Given the description of an element on the screen output the (x, y) to click on. 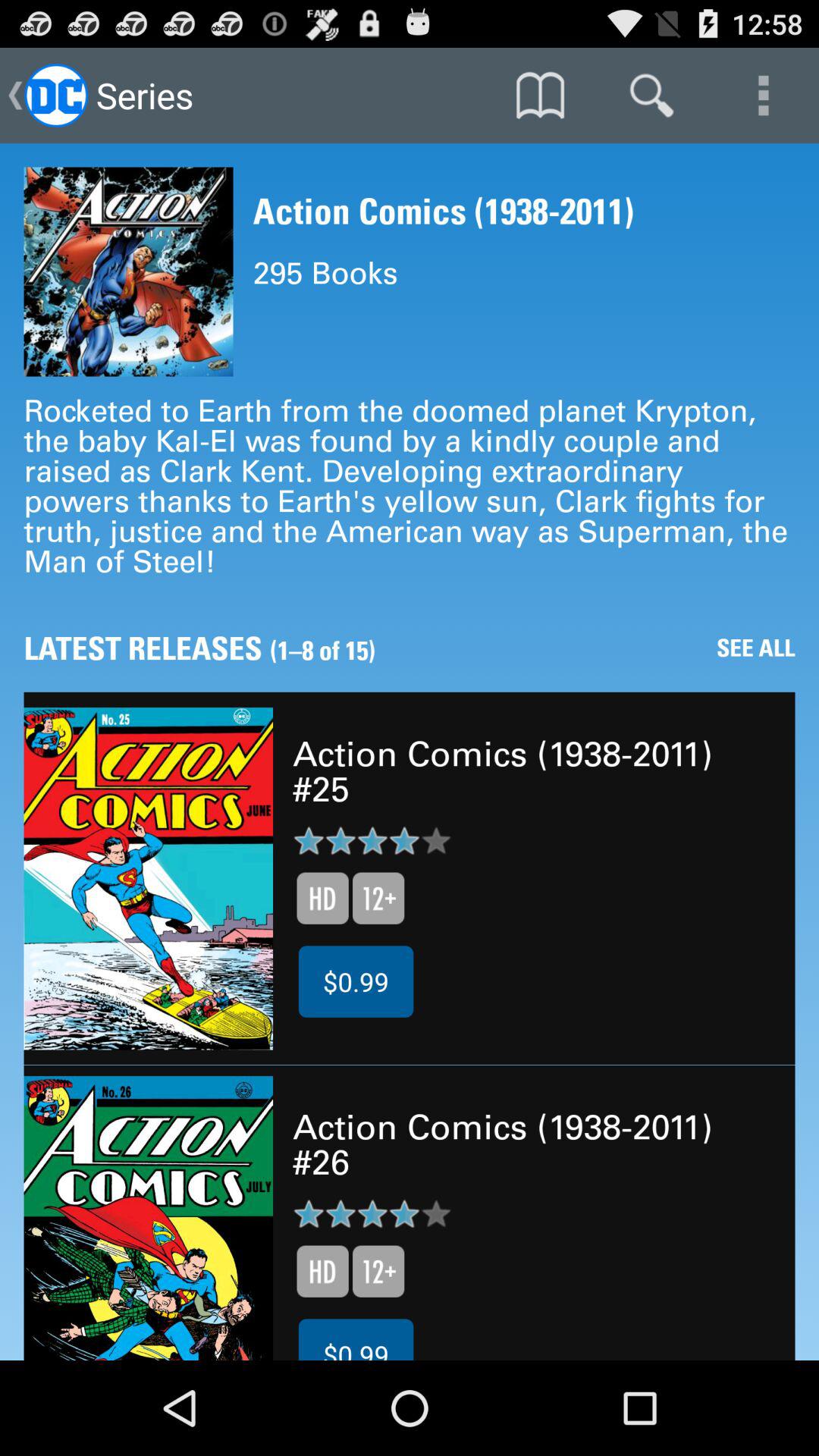
turn on the icon above action comics 1938 icon (540, 95)
